Given the description of an element on the screen output the (x, y) to click on. 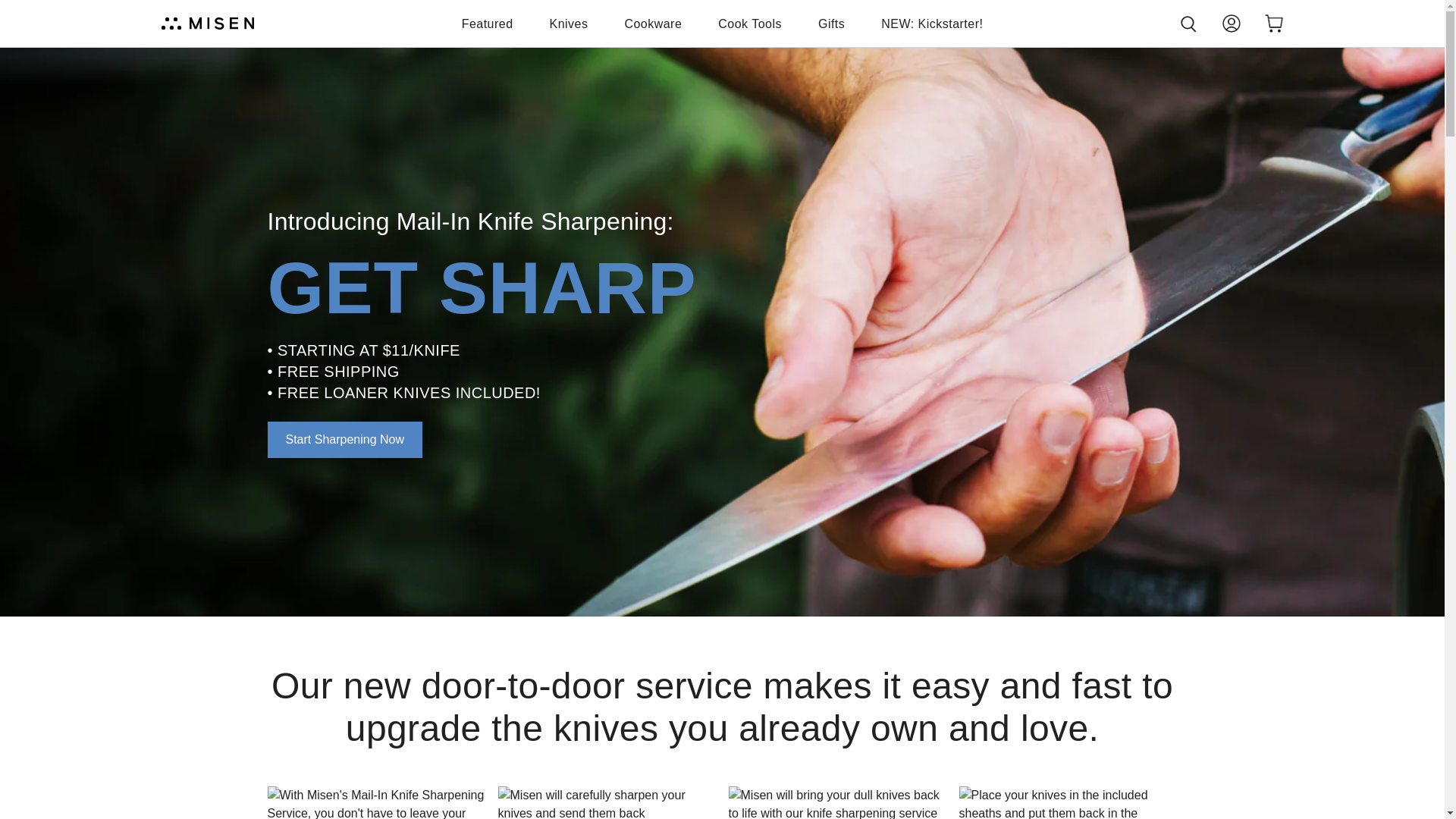
Skip to content (17, 8)
Featured (487, 24)
Cook Tools (749, 24)
Cookware (652, 24)
Gifts (831, 24)
NEW: Kickstarter! (931, 24)
Knives (569, 24)
